Given the description of an element on the screen output the (x, y) to click on. 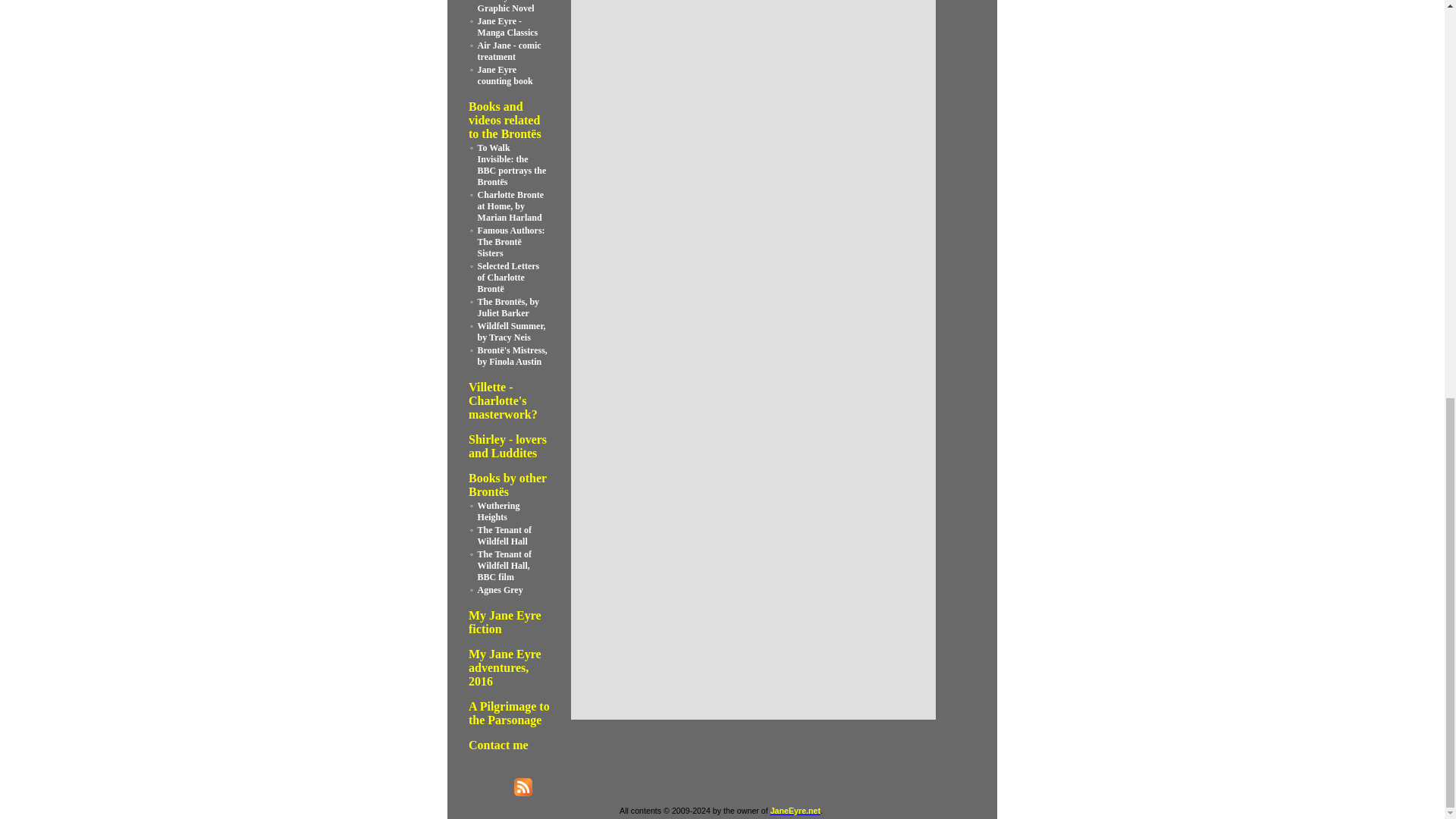
Jane Eyre - the Graphic Novel (506, 6)
Shirley - lovers and Luddites (507, 446)
Charlotte Bronte at Home, by Marian Harland (510, 205)
The Tenant of Wildfell Hall (504, 535)
Air Jane - comic treatment (509, 51)
Jane Eyre - Manga Classics (507, 26)
Wildfell Summer, by Tracy Neis (511, 332)
Wuthering Heights (498, 511)
Jane Eyre counting book (504, 75)
Villette - Charlotte's masterwork? (502, 400)
